Given the description of an element on the screen output the (x, y) to click on. 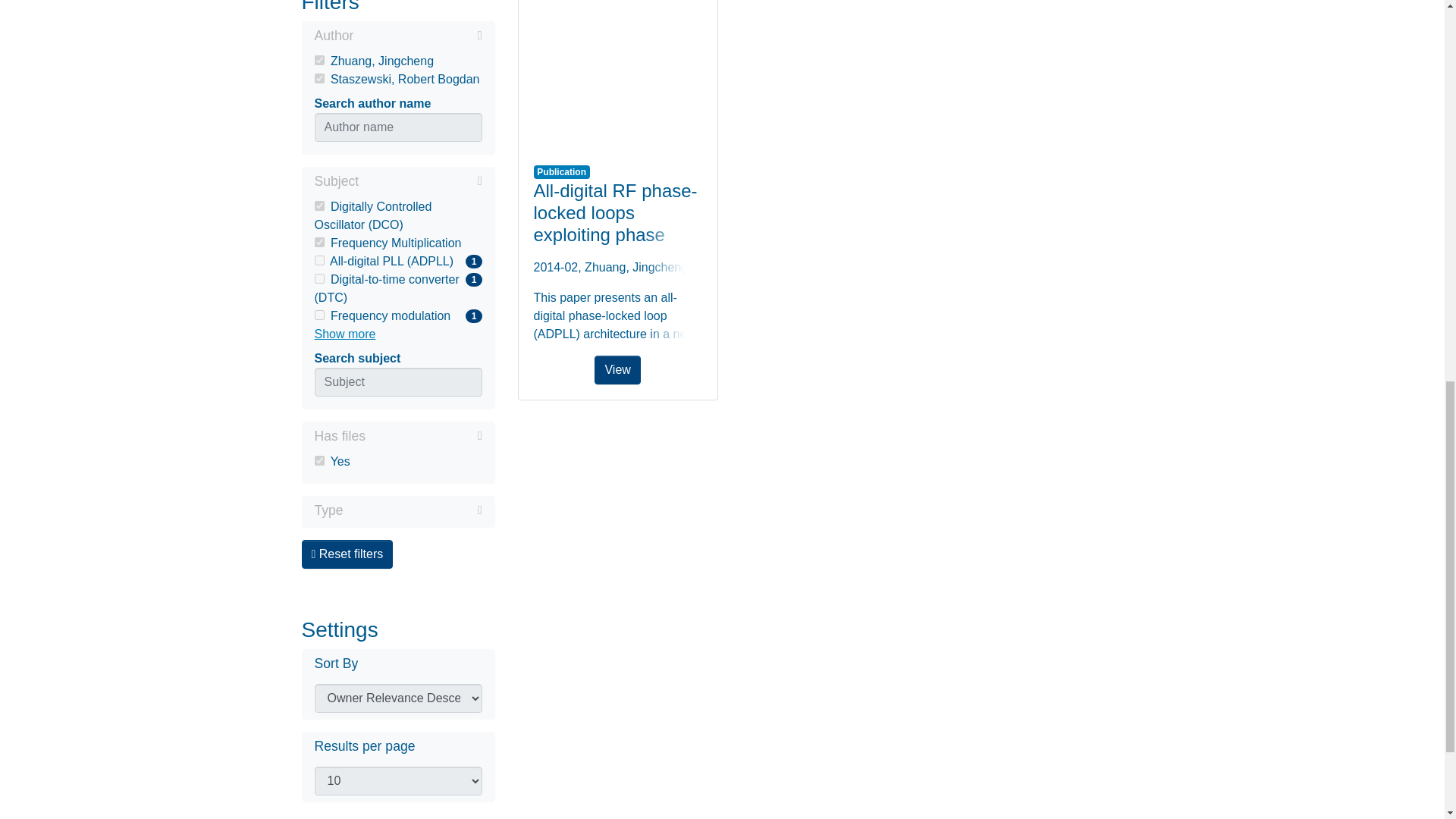
on (318, 242)
on (318, 460)
on (318, 315)
Expand filter (412, 510)
on (318, 260)
on (318, 60)
Subject (397, 182)
on (318, 278)
on (318, 78)
on (318, 205)
Staszewski, Robert Bogdan (397, 79)
Collapse filter (417, 35)
Zhuang, Jingcheng (397, 316)
Collapse filter (397, 61)
